Given the description of an element on the screen output the (x, y) to click on. 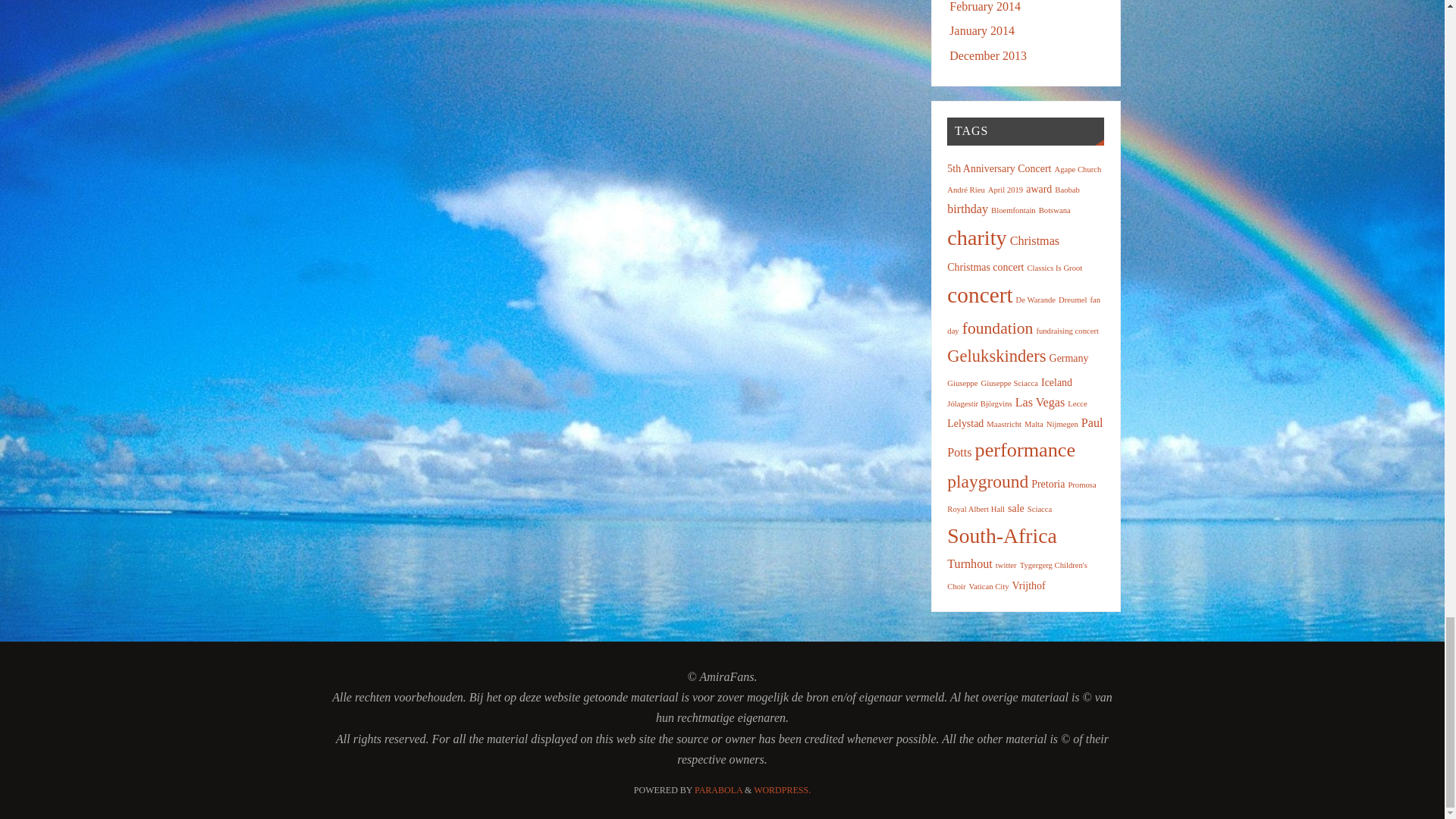
Parabola Theme by Cryout Creations (718, 789)
Semantic Personal Publishing Platform (782, 789)
